Given the description of an element on the screen output the (x, y) to click on. 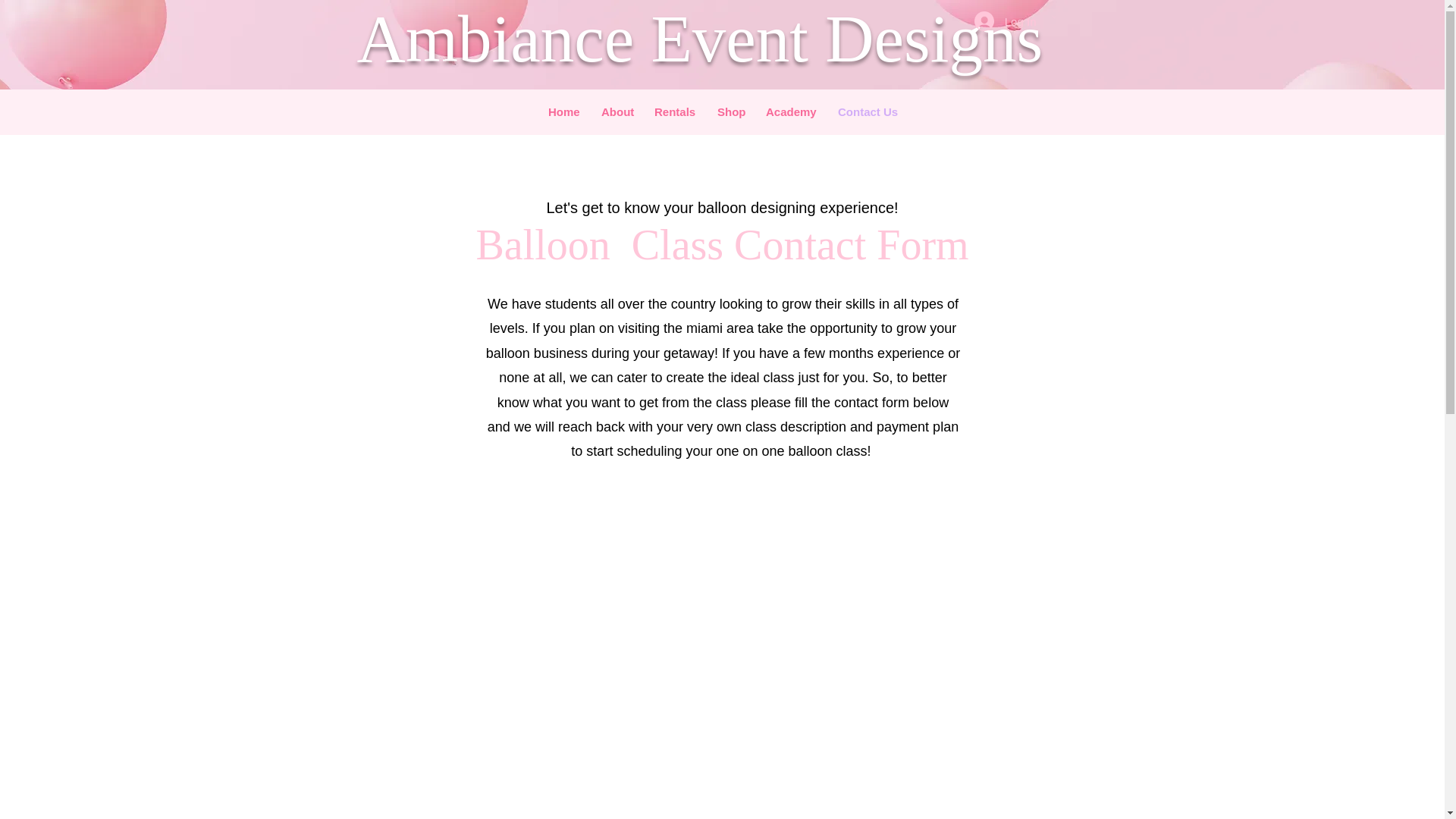
Ambiance Event Designs (699, 38)
Rentals (674, 112)
Home (563, 112)
Academy (790, 112)
Contact Us (867, 112)
Log In (1004, 21)
